Given the description of an element on the screen output the (x, y) to click on. 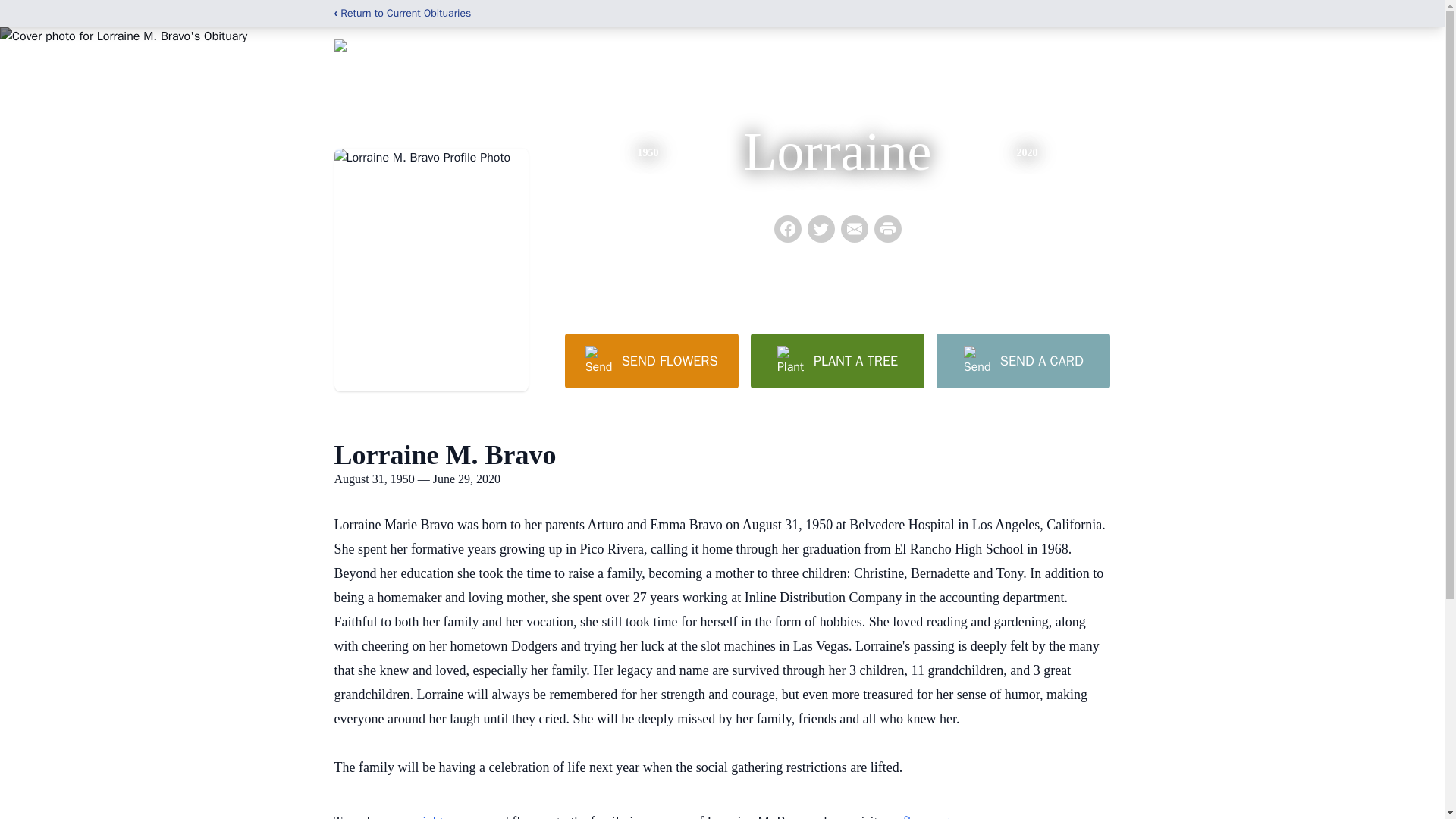
PLANT A TREE (837, 360)
SEND FLOWERS (651, 360)
memorial trees (424, 816)
SEND A CARD (1022, 360)
flower store (935, 816)
